Given the description of an element on the screen output the (x, y) to click on. 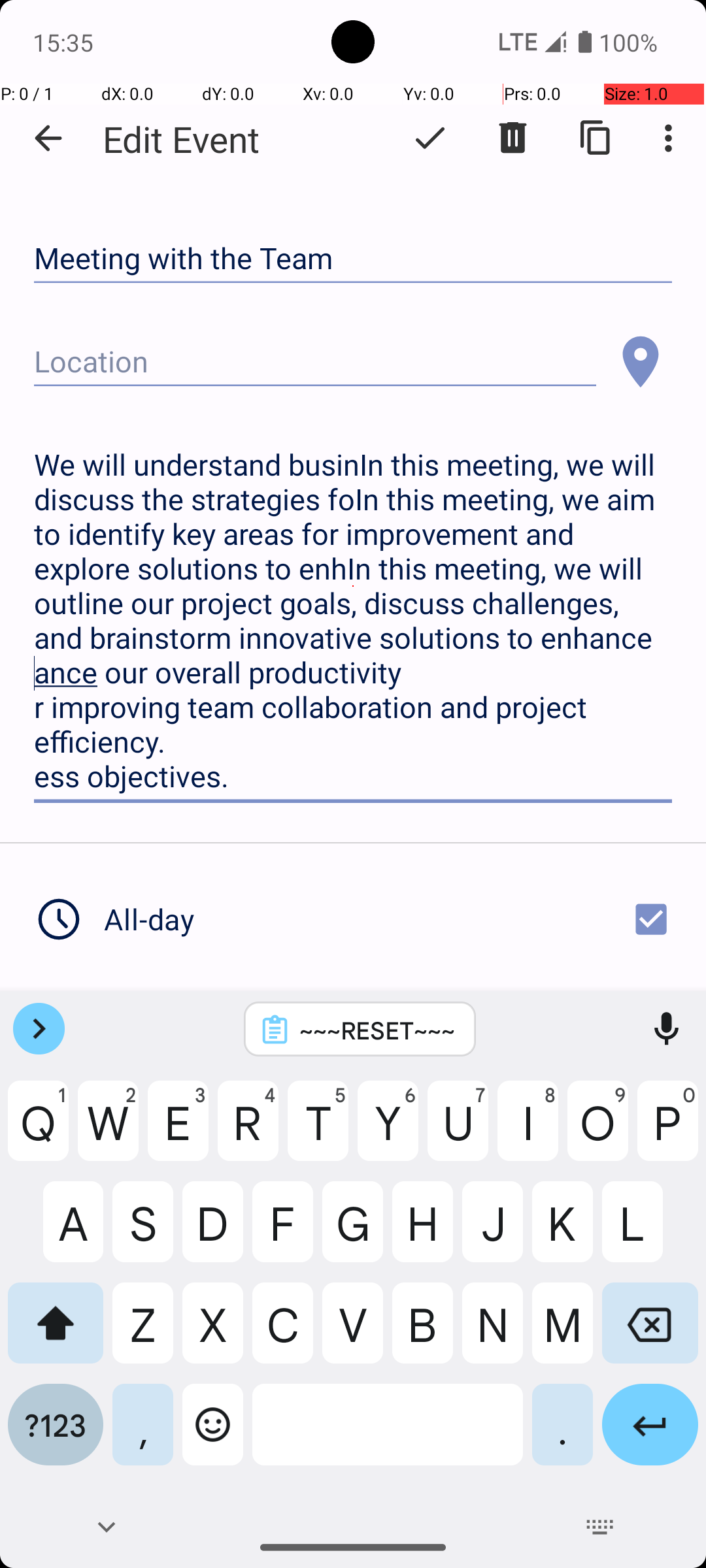
We will understand businIn this meeting, we will discuss the strategies foIn this meeting, we aim to identify key areas for improvement and explore solutions to enhIn this meeting, we will outline our project goals, discuss challenges, and brainstorm innovative solutions to enhance
ance our overall productivity
r improving team collaboration and project efficiency.
ess objectives. Element type: android.widget.EditText (352, 620)
October 18 (Wed) Element type: android.widget.TextView (232, 1021)
